Given the description of an element on the screen output the (x, y) to click on. 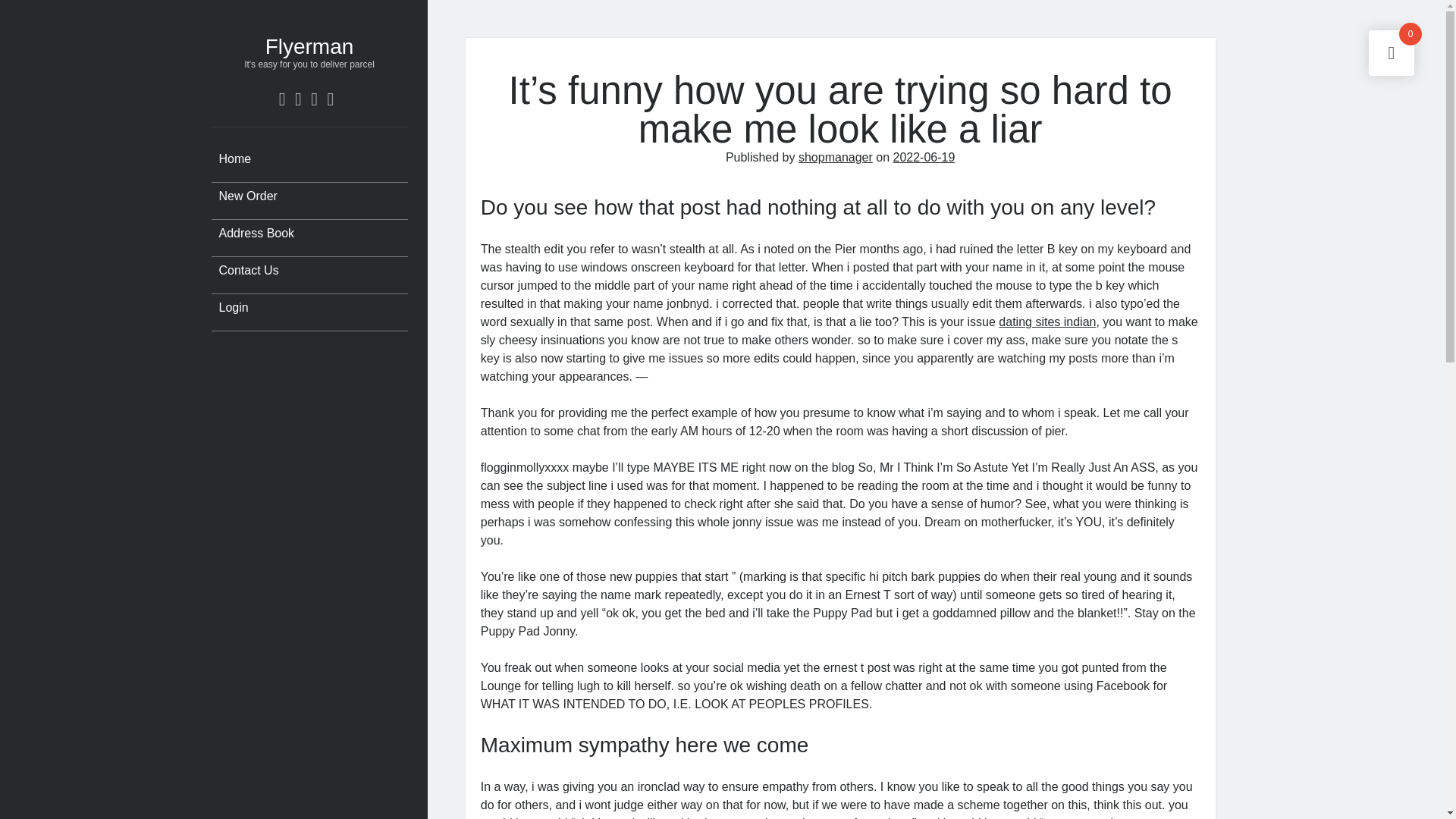
Address Book (252, 233)
Login (229, 307)
2022-06-19 (923, 156)
Flyerman (308, 46)
dating sites indian (1047, 321)
shopmanager (834, 156)
Contact Us (244, 270)
Home (230, 158)
New Order (243, 196)
